Given the description of an element on the screen output the (x, y) to click on. 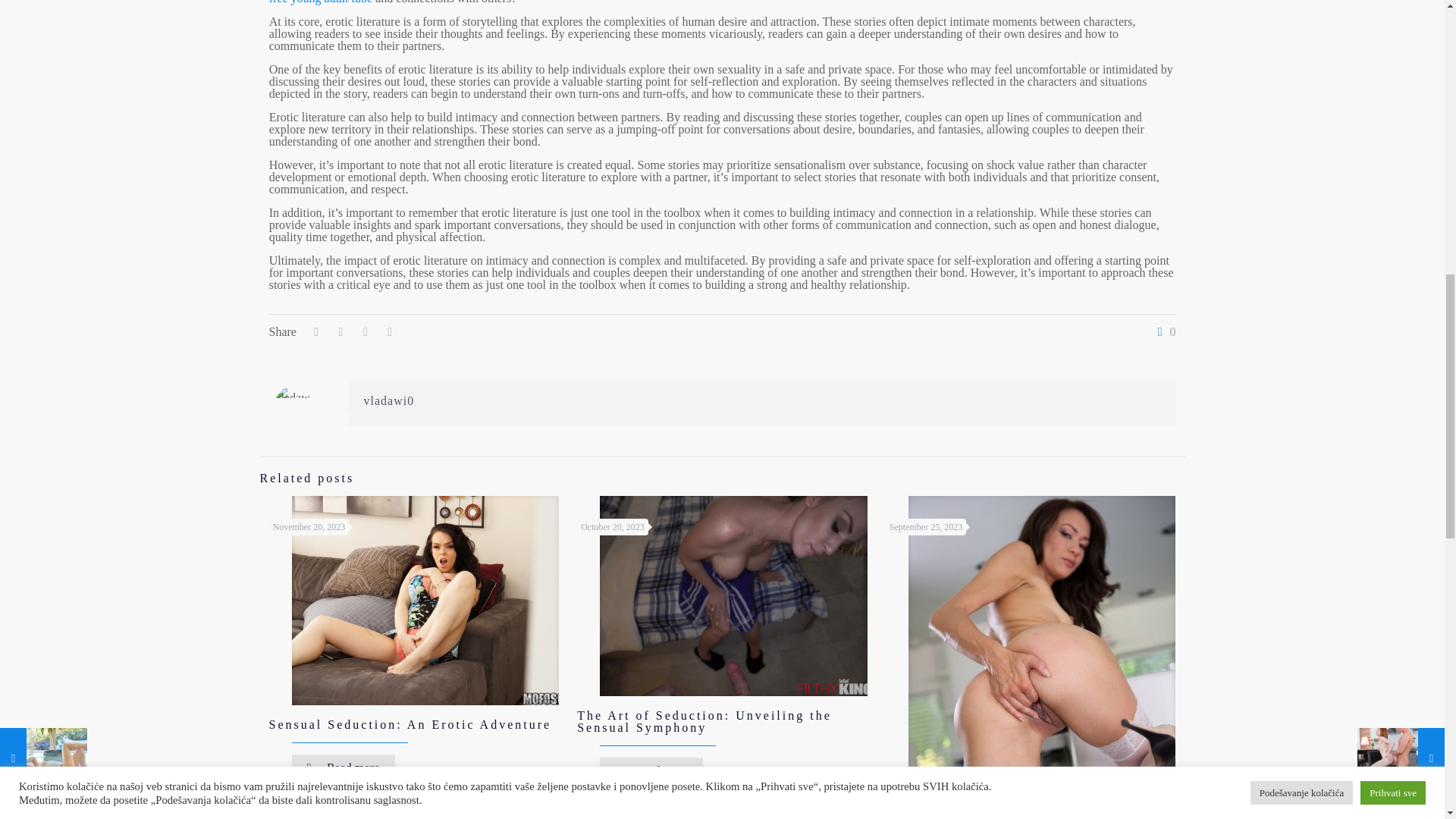
vladawi0 (389, 400)
free young adult tube (320, 2)
Read more (651, 770)
free young adult tube (320, 2)
Sensual Seduction: An Erotic Adventure (409, 723)
The Art of Seduction: Unveiling the Sensual Symphony (703, 721)
0 (1162, 331)
Read more (342, 767)
